Given the description of an element on the screen output the (x, y) to click on. 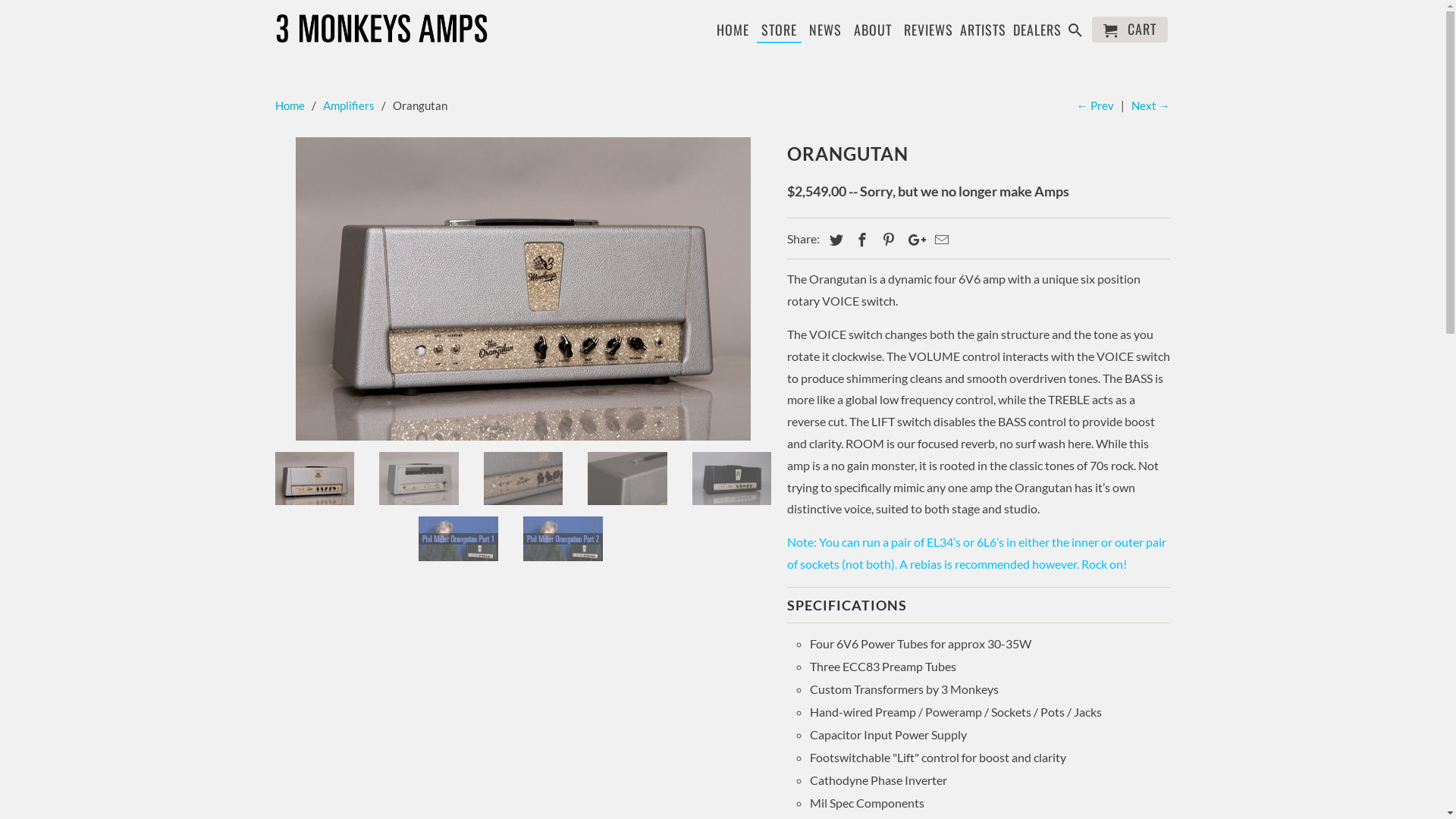
Share this on Twitter Element type: hover (834, 239)
REVIEWS Element type: text (928, 32)
3 Monkeys Amps Element type: hover (380, 27)
Share this on Google+ Element type: hover (912, 239)
Email this to a friend Element type: hover (939, 239)
Search Element type: hover (1076, 32)
STORE Element type: text (779, 27)
Share this on Facebook Element type: hover (859, 239)
CART Element type: text (1129, 29)
The Orangutan Head in Silver Tolex Element type: hover (522, 288)
Amplifiers Element type: text (348, 105)
ABOUT Element type: text (872, 27)
Share this on Pinterest Element type: hover (886, 239)
HOME Element type: text (732, 32)
Home Element type: text (289, 105)
ARTISTS Element type: text (983, 32)
NEWS Element type: text (825, 32)
DEALERS Element type: text (1037, 32)
